Given the description of an element on the screen output the (x, y) to click on. 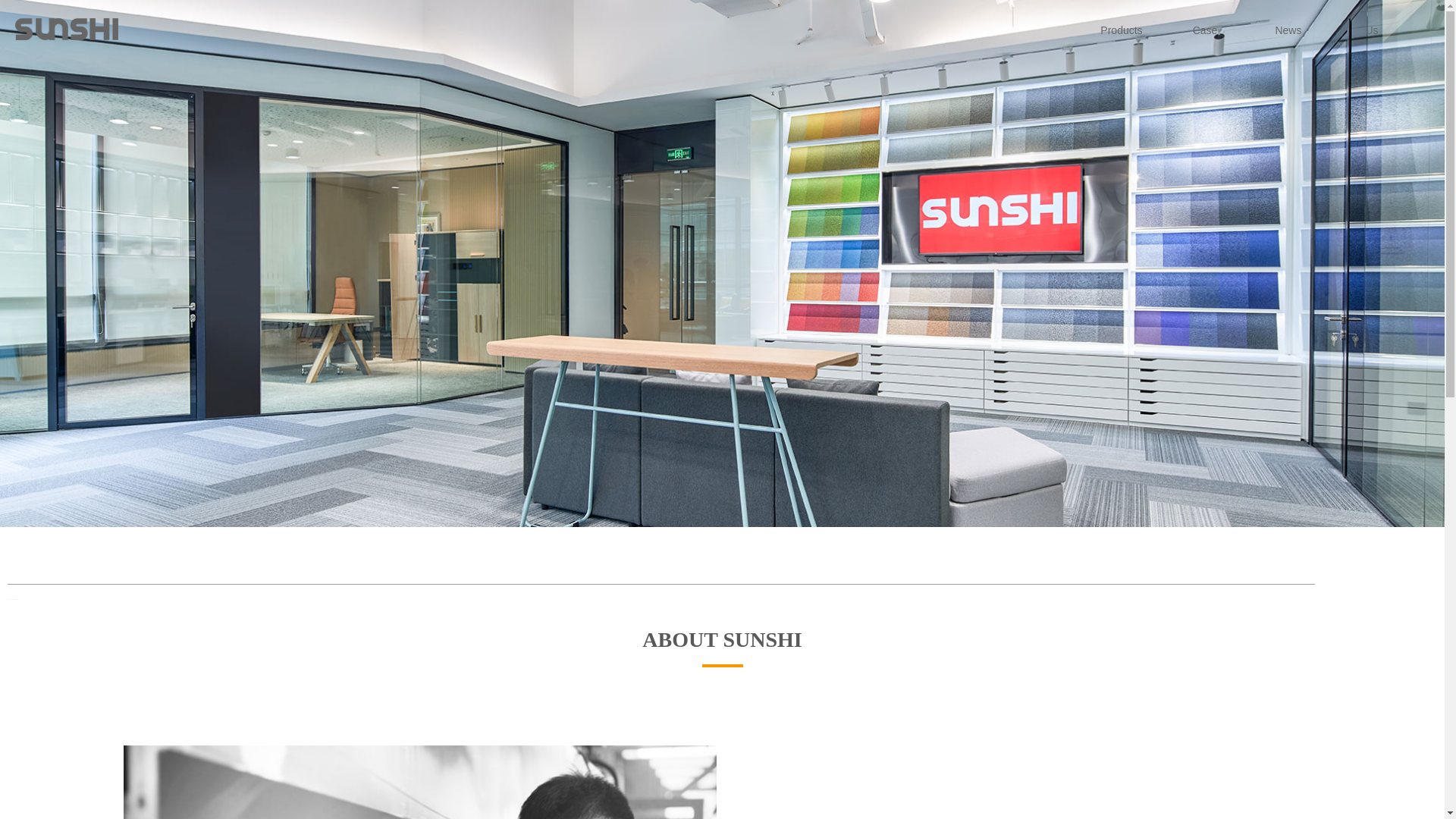
Products (1121, 3)
Case (1204, 4)
News (1288, 6)
logo (65, 9)
Us (1371, 6)
